Given the description of an element on the screen output the (x, y) to click on. 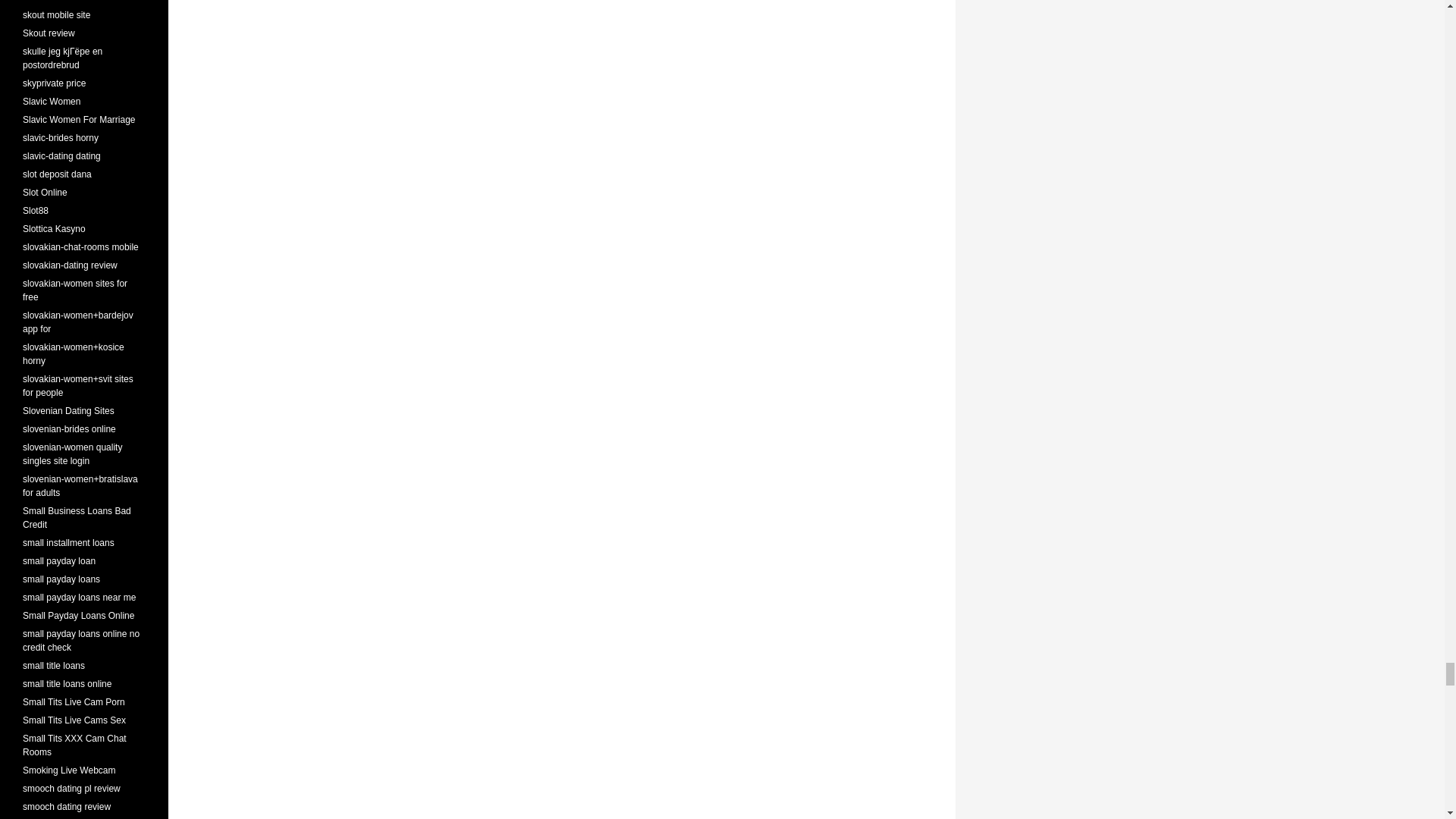
Slot88 (35, 210)
Slot Online (44, 192)
slot deposit dana (57, 173)
